Given the description of an element on the screen output the (x, y) to click on. 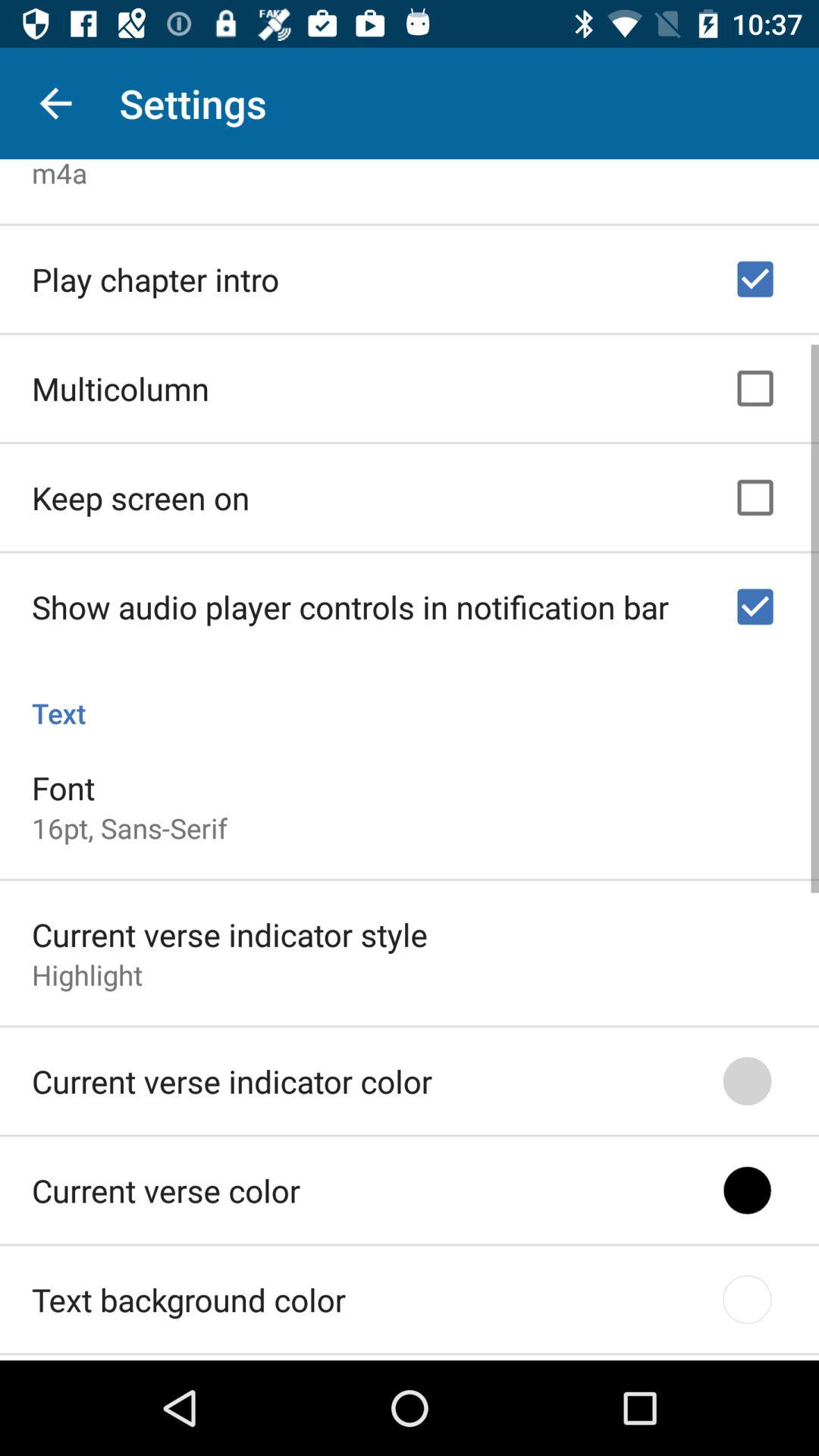
click item below the text icon (62, 782)
